Given the description of an element on the screen output the (x, y) to click on. 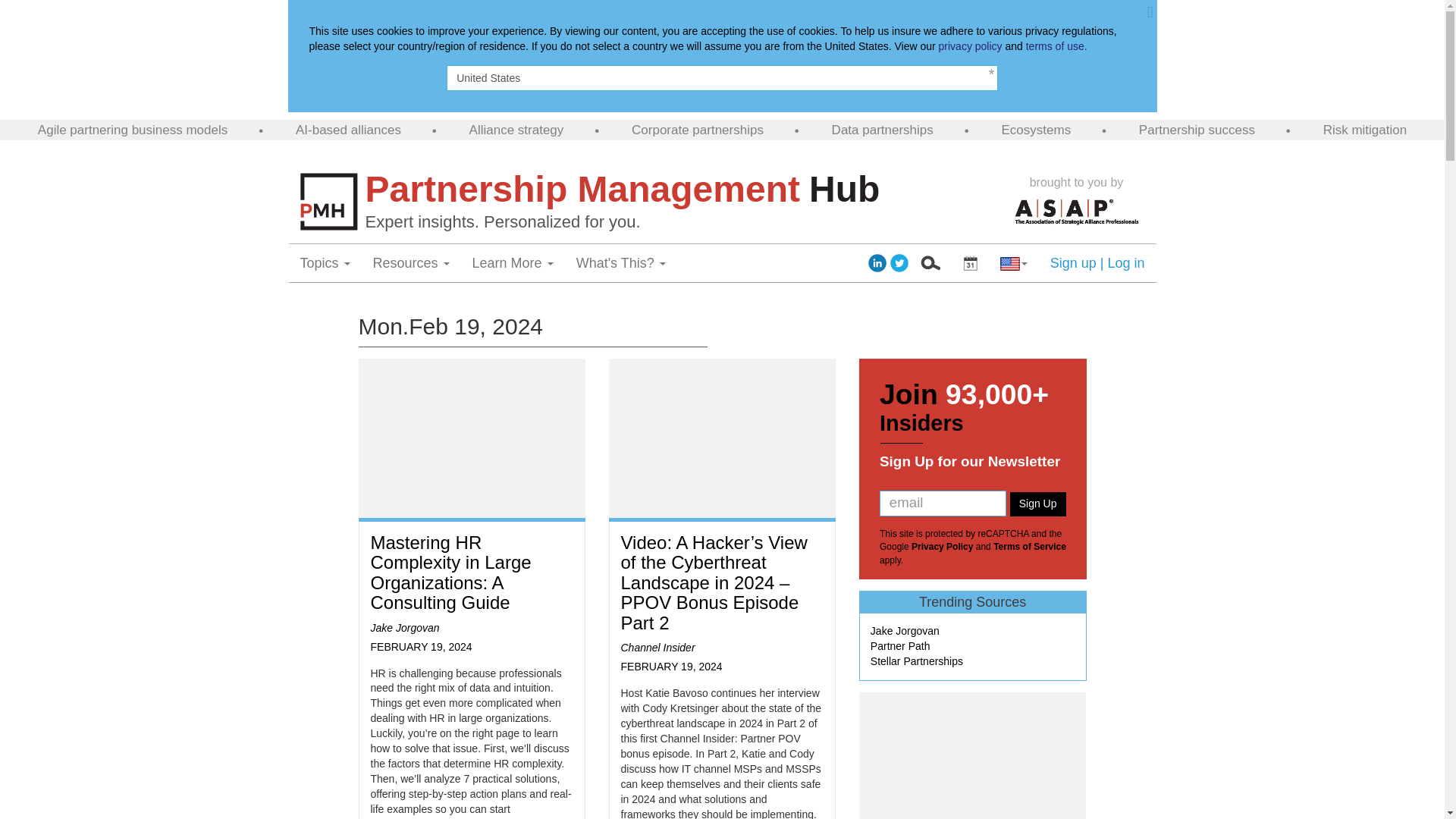
Partnership Management Hub (683, 189)
terms of use. (1056, 46)
Agile partnering business models (132, 129)
AI-based alliances (348, 129)
Ecosystems (1035, 129)
Risk mitigation (1365, 129)
Alliance strategy (516, 129)
United States (721, 77)
Partnership success (1196, 129)
Corporate partnerships (696, 129)
